Given the description of an element on the screen output the (x, y) to click on. 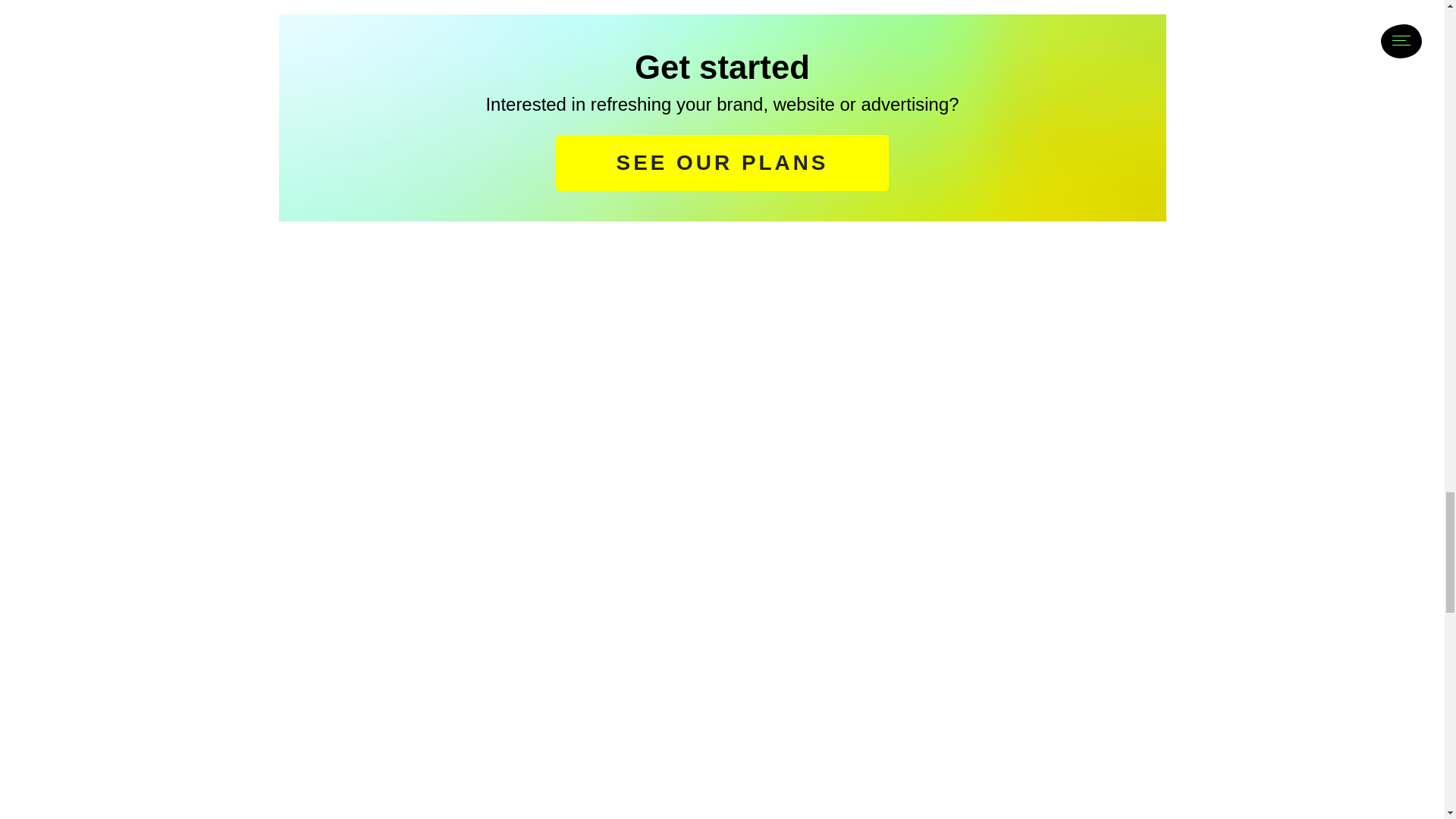
SEE OUR PLANS (722, 163)
